Given the description of an element on the screen output the (x, y) to click on. 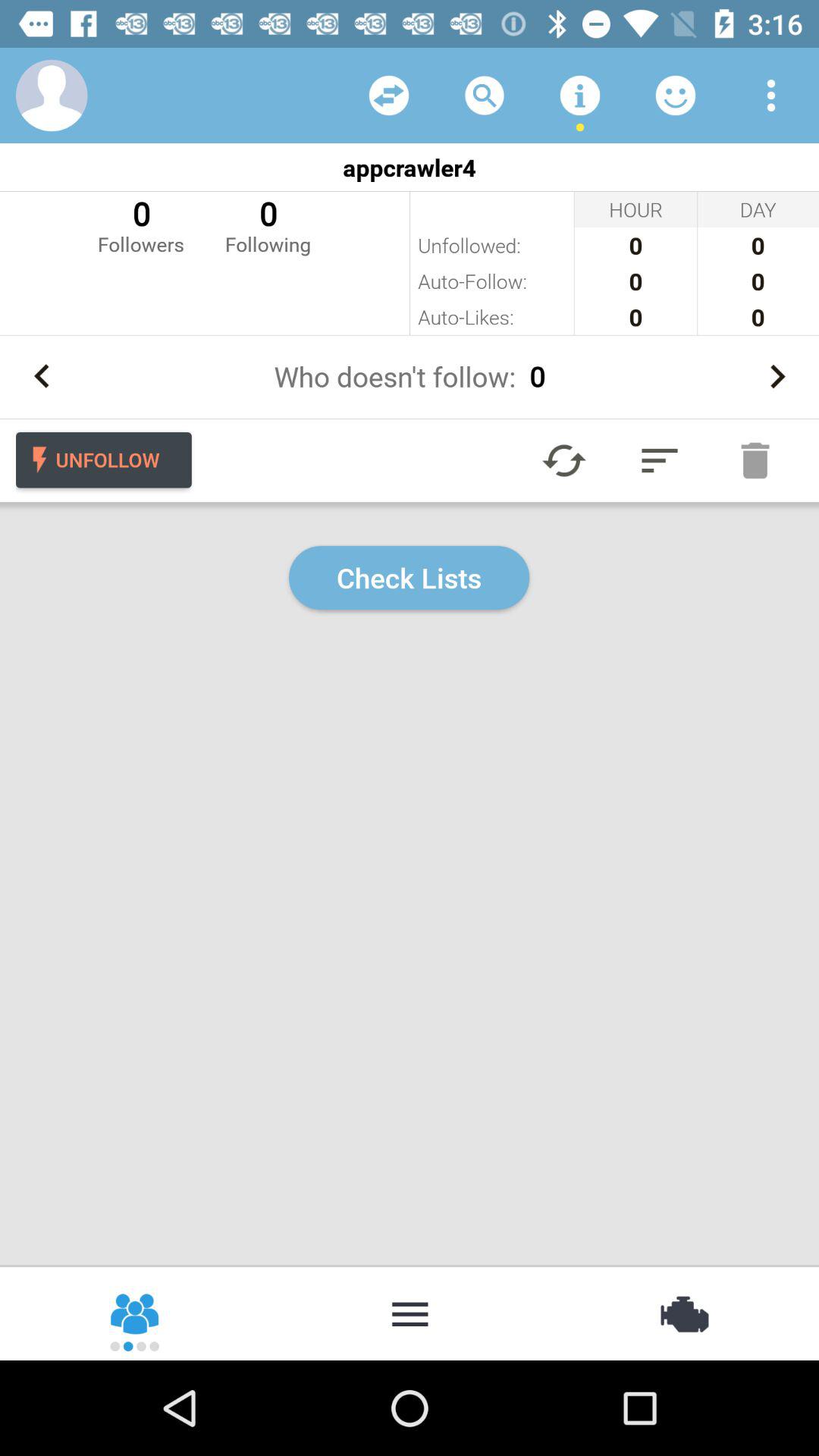
expand menu (659, 460)
